Given the description of an element on the screen output the (x, y) to click on. 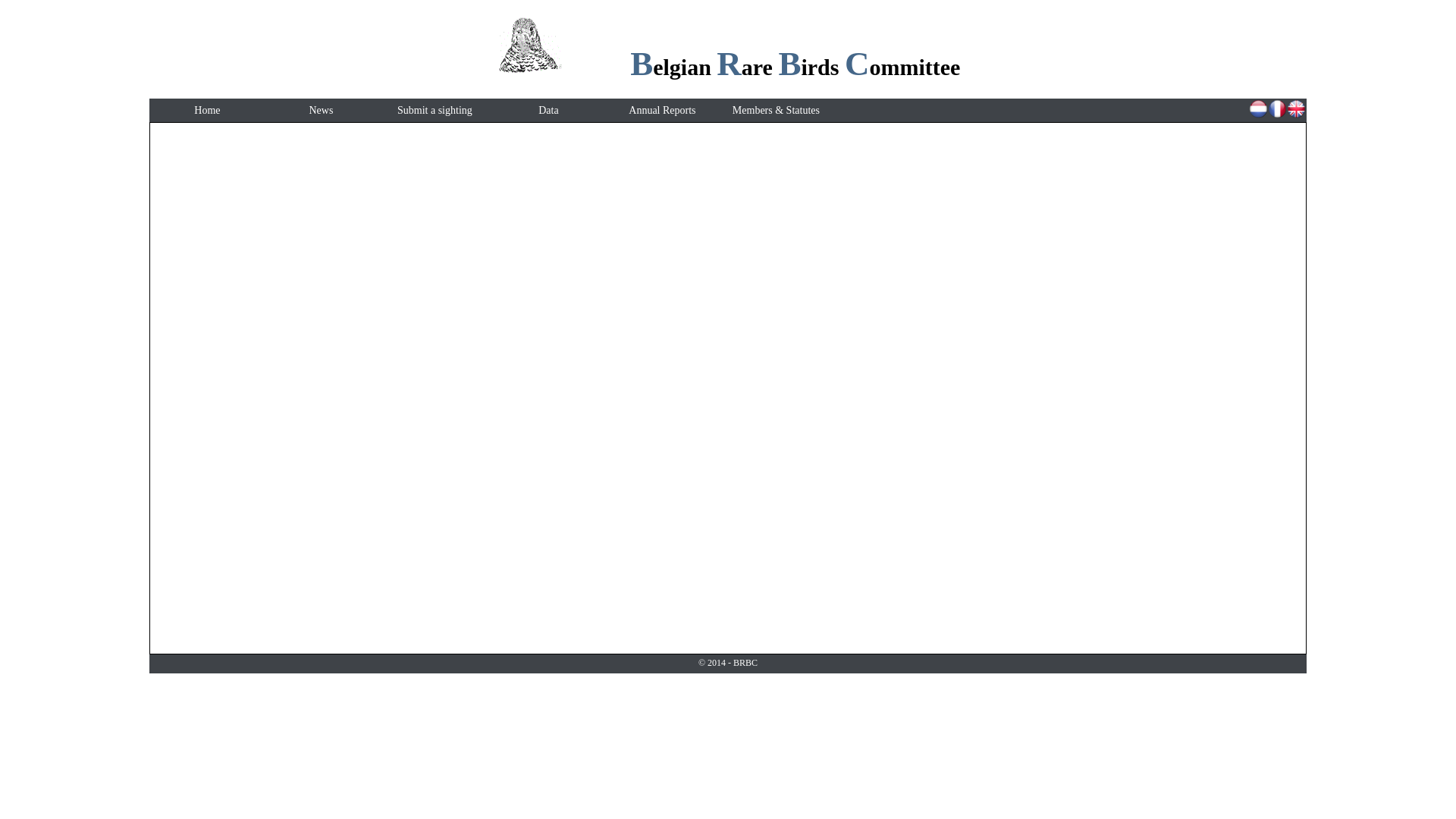
Members & Statutes Element type: text (775, 110)
Submit a sighting Element type: text (434, 110)
Data Element type: text (548, 110)
Home Element type: text (206, 110)
Annual Reports Element type: text (661, 110)
News Element type: text (320, 110)
